Given the description of an element on the screen output the (x, y) to click on. 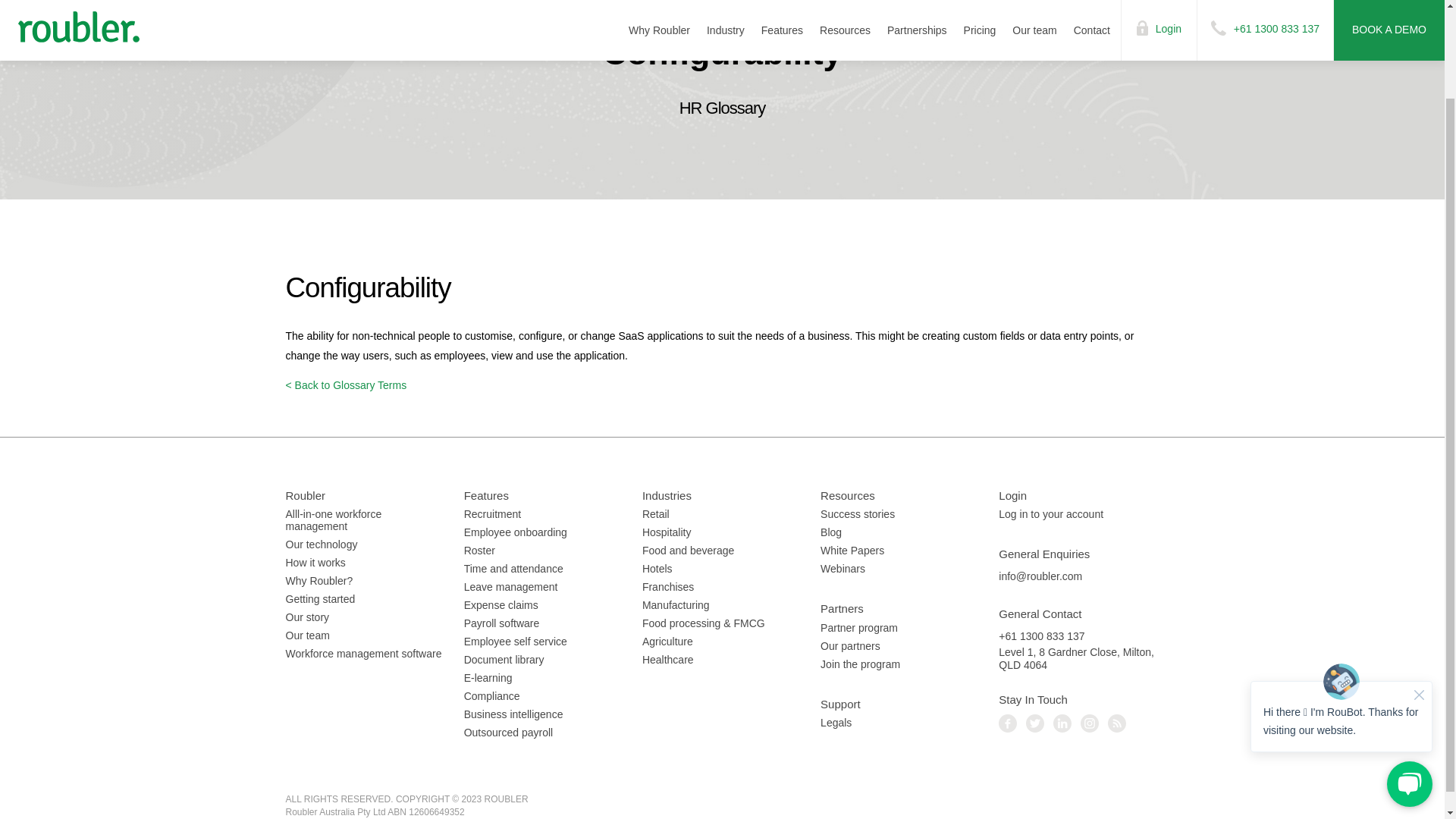
Chat Widget (1341, 630)
